Given the description of an element on the screen output the (x, y) to click on. 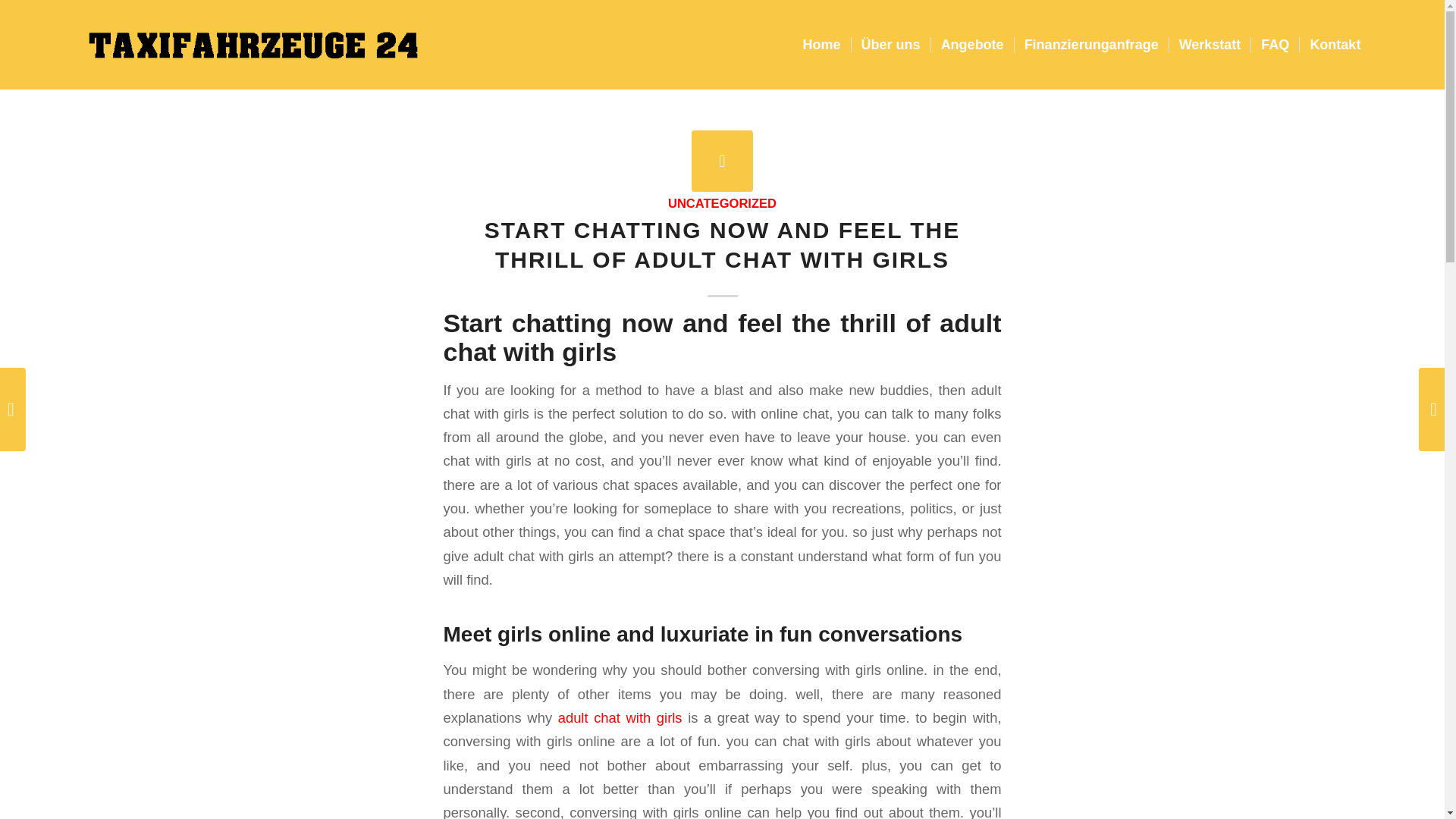
Finanzierunganfrage (1091, 44)
adult chat with girls (619, 717)
Angebote (971, 44)
UNCATEGORIZED (722, 203)
logoneu (253, 44)
Werkstatt (1209, 44)
